Given the description of an element on the screen output the (x, y) to click on. 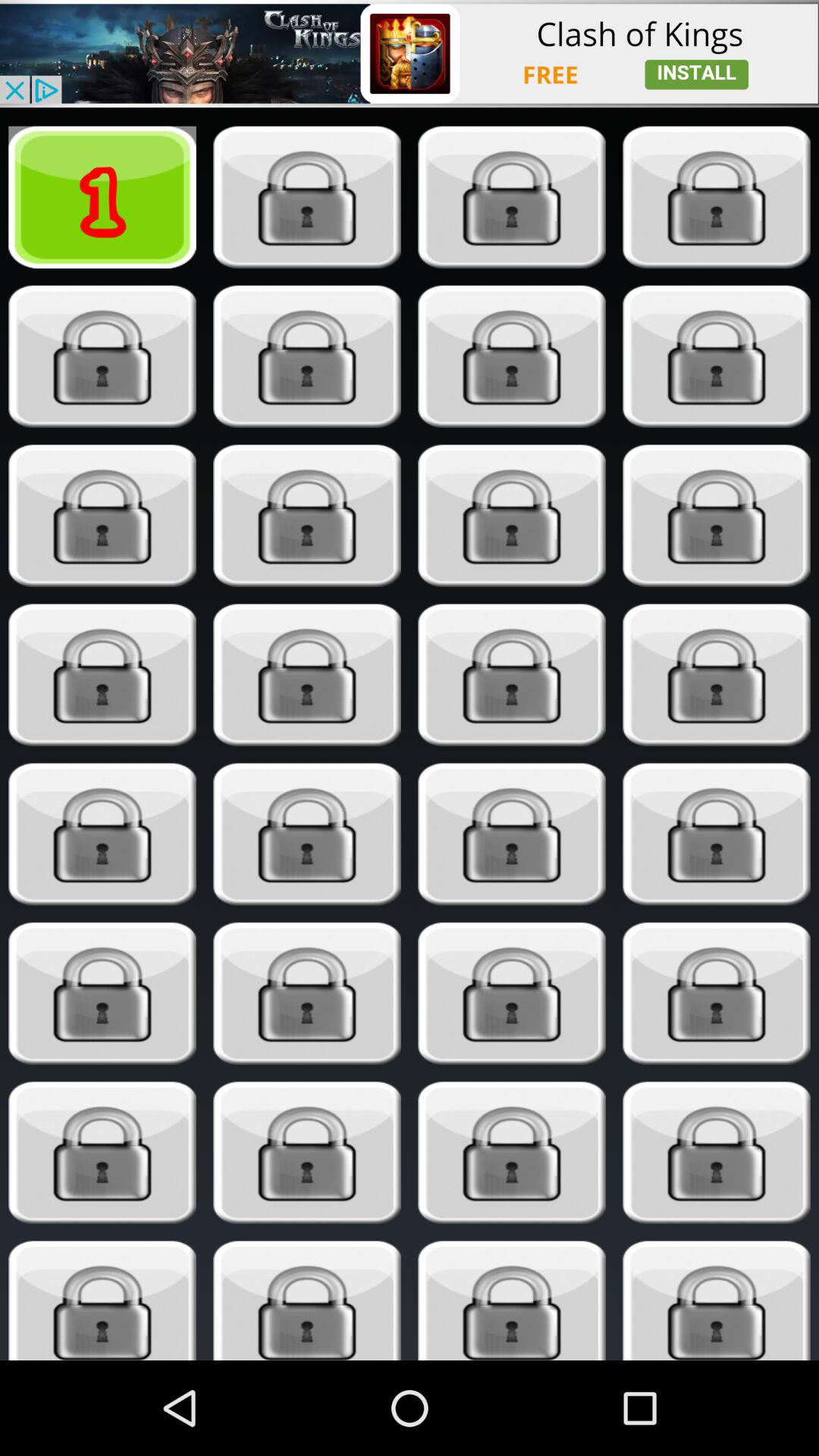
unlock (511, 1300)
